Given the description of an element on the screen output the (x, y) to click on. 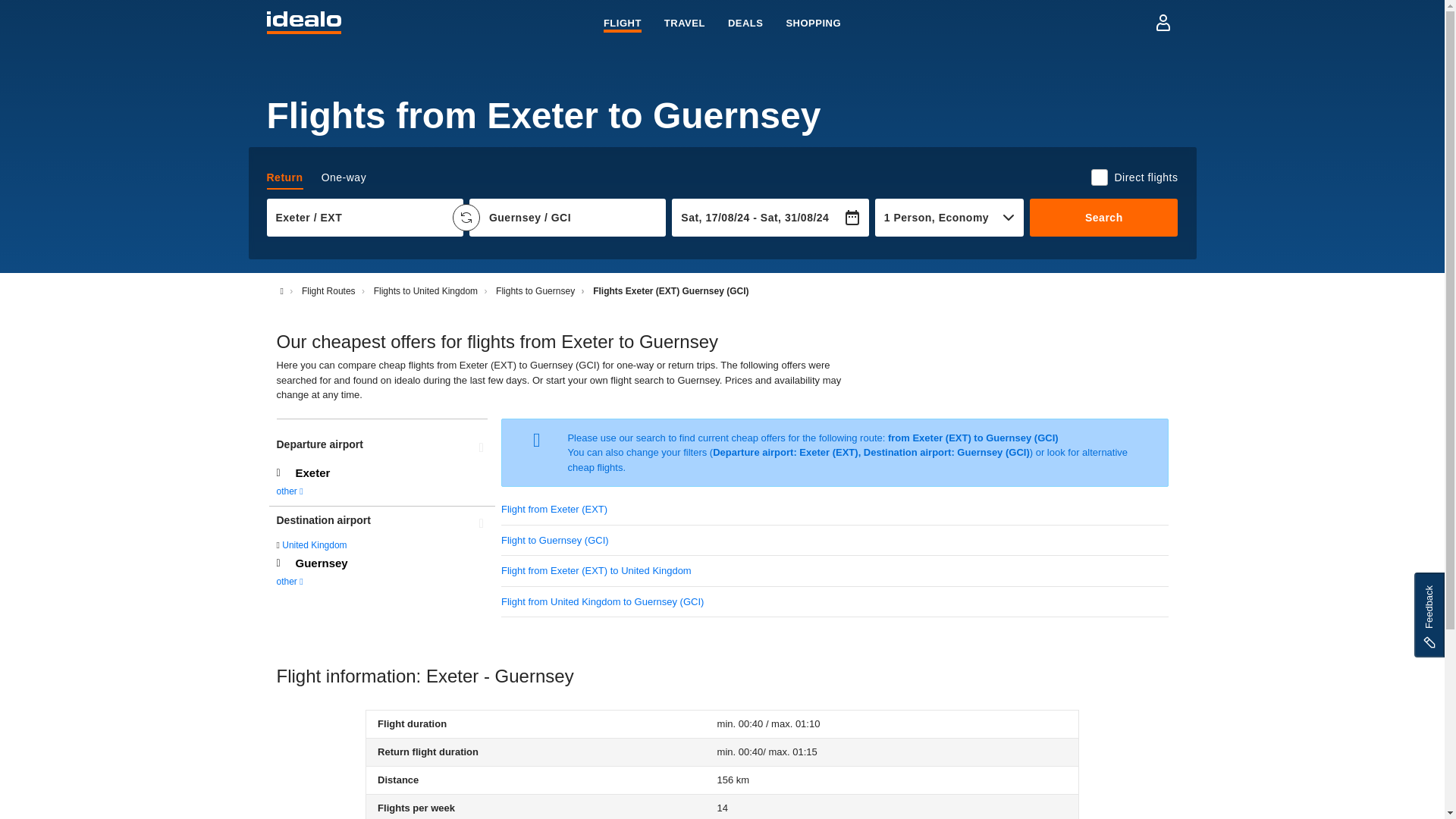
SHOPPING (813, 21)
Search (1103, 217)
other (289, 490)
1 Person, Economy (939, 217)
Flights to Guernsey (535, 290)
Flights to United Kingdom (316, 177)
on (425, 290)
Return (381, 563)
